Given the description of an element on the screen output the (x, y) to click on. 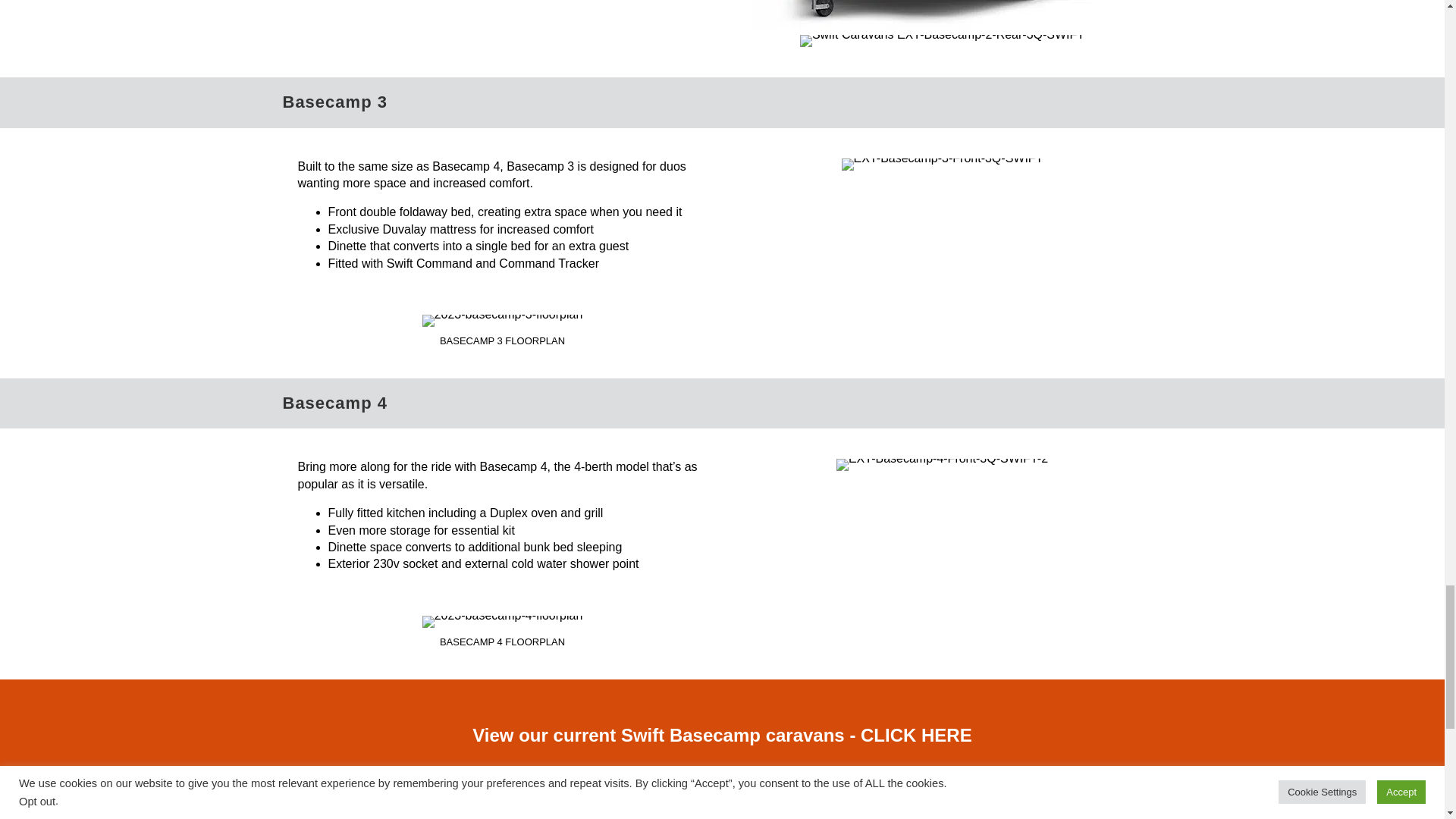
Swift Caravans EXT-Basecamp-2-Rear-3Q-SWIFT - Davan Caravans (941, 40)
2023-basecamp-3-floorplan - Davan Caravans (502, 320)
